Given the description of an element on the screen output the (x, y) to click on. 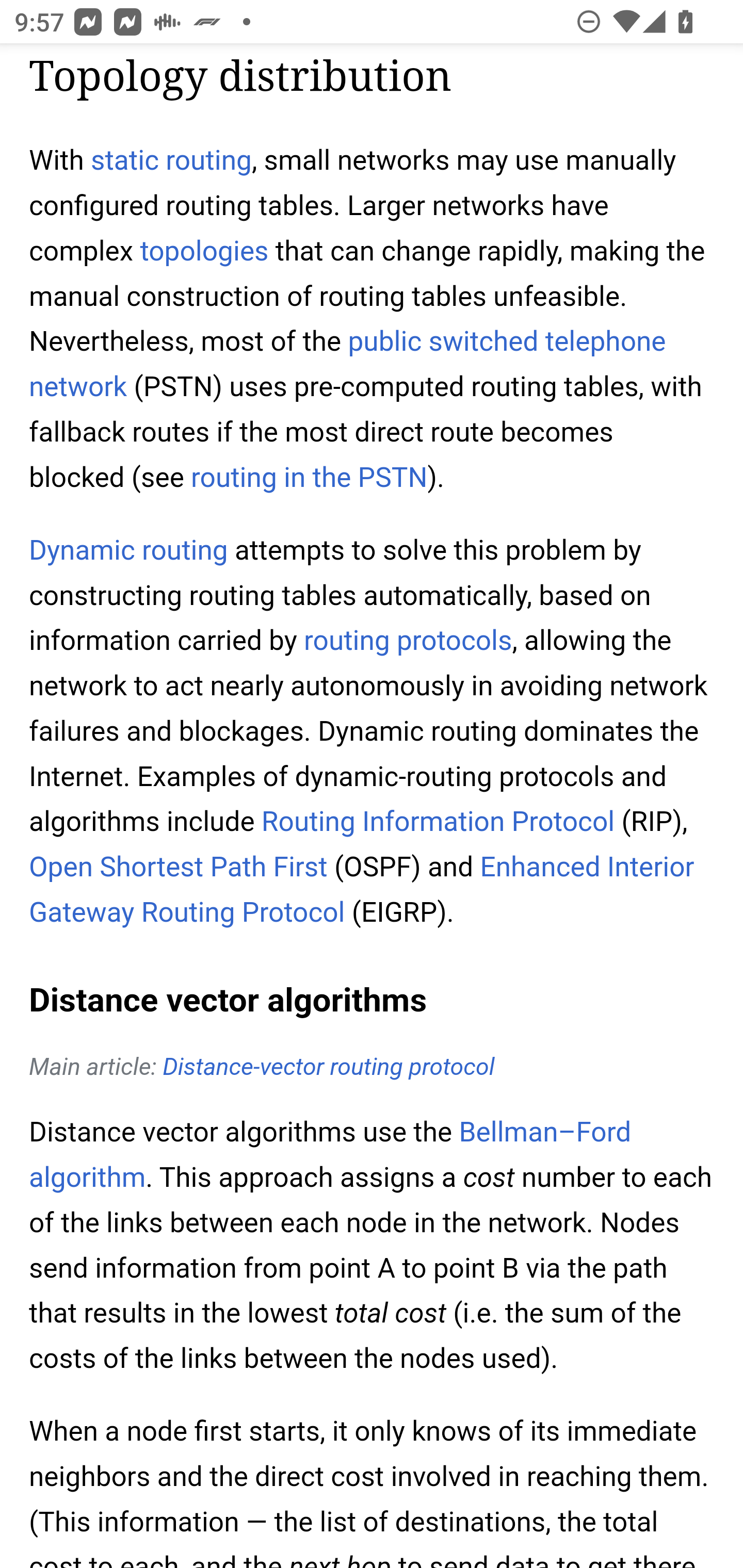
static routing (171, 161)
topologies (203, 251)
public switched telephone network (347, 364)
routing in the PSTN (308, 477)
Dynamic routing (128, 550)
routing protocols (407, 641)
Routing Information Protocol (437, 821)
Open Shortest Path First (178, 867)
Enhanced Interior Gateway Routing Protocol (361, 890)
Distance-vector routing protocol (328, 1068)
Bellman–Ford algorithm (330, 1155)
